Given the description of an element on the screen output the (x, y) to click on. 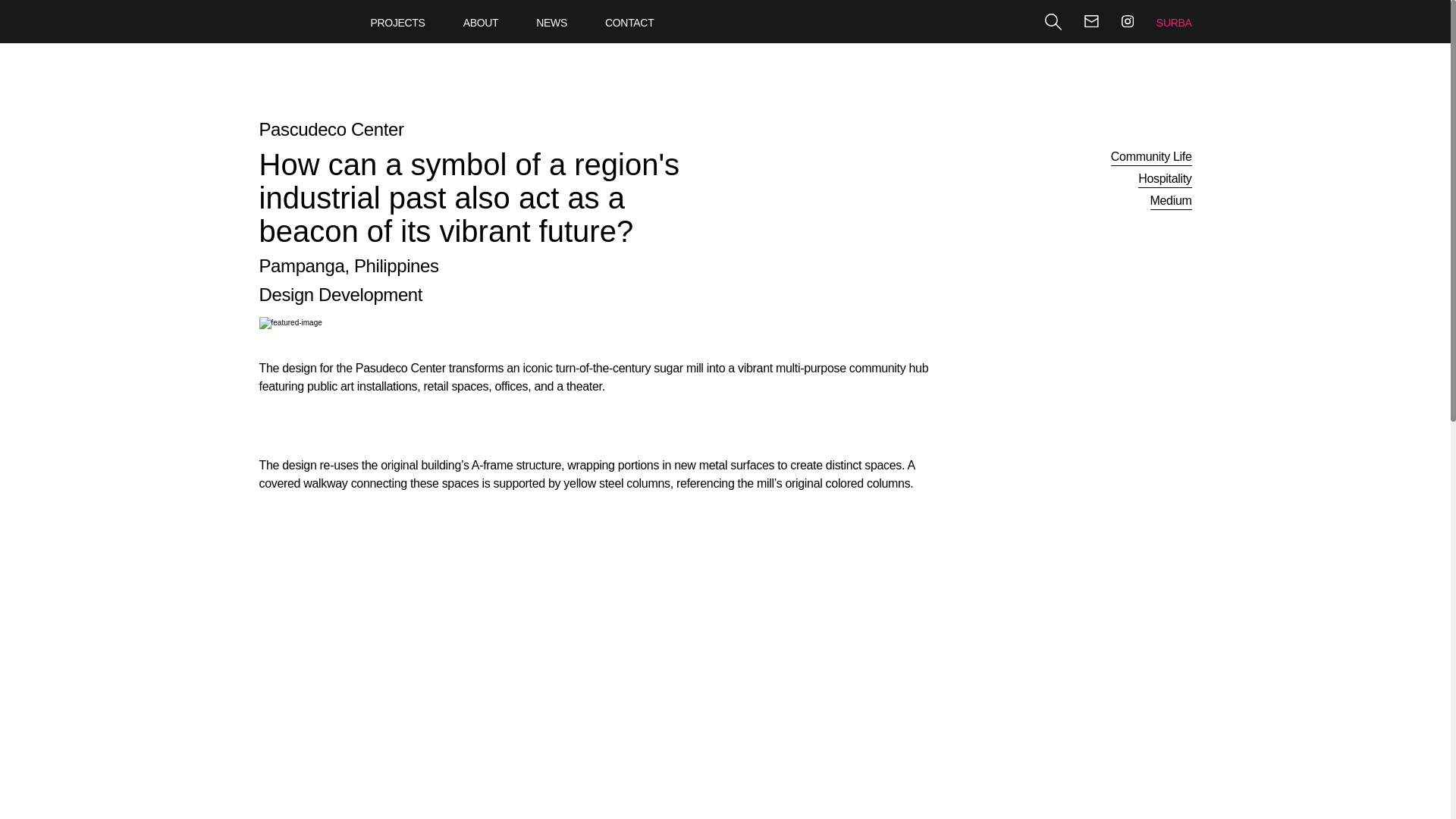
Caza (296, 6)
NEWS (551, 22)
PROJECTS (397, 22)
Community Life (1151, 157)
CONTACT (629, 22)
SURBA (1174, 22)
Hospitality (1164, 179)
Medium (1170, 201)
ABOUT (481, 22)
